Given the description of an element on the screen output the (x, y) to click on. 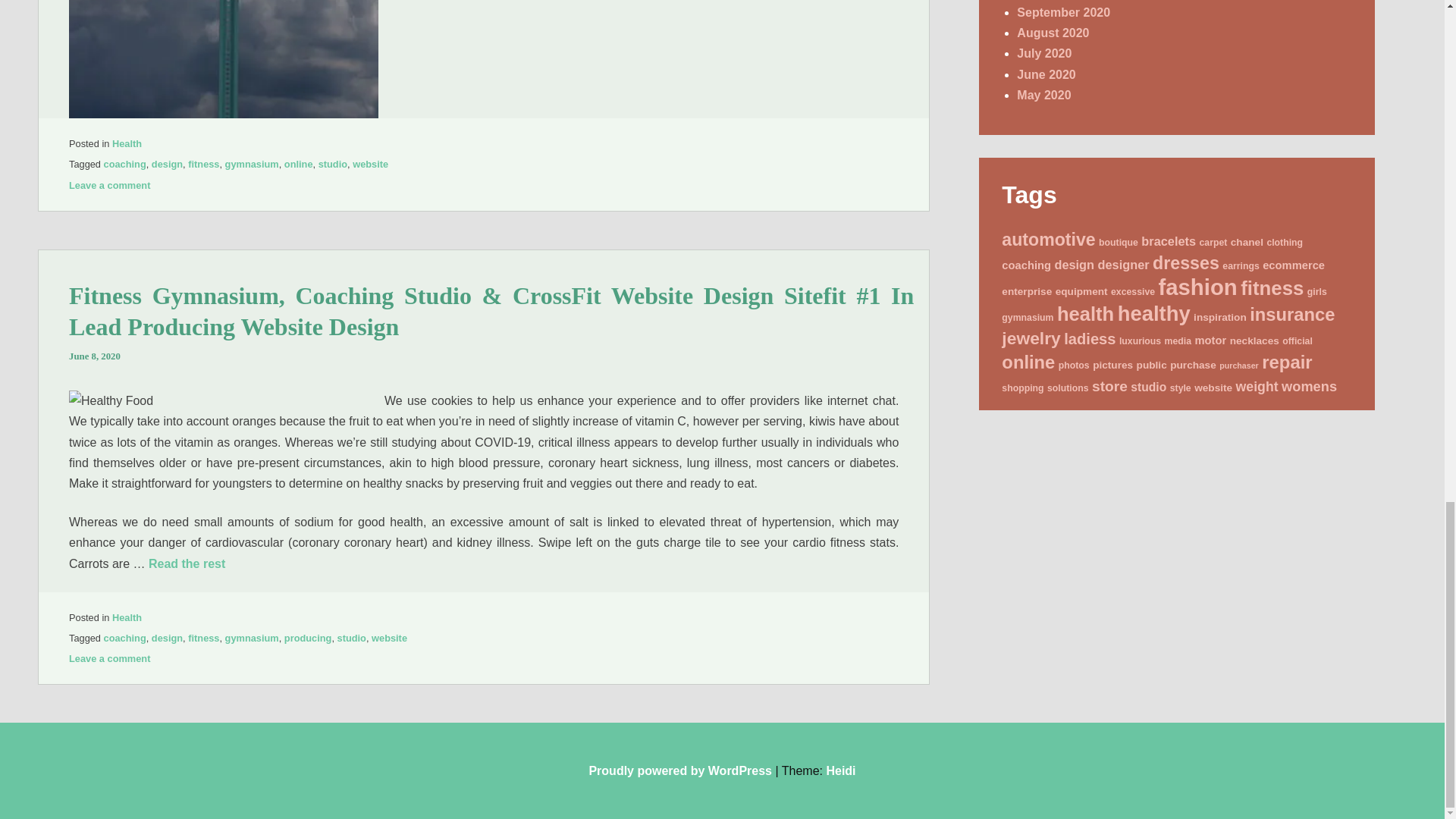
website (370, 163)
Health (126, 143)
coaching (125, 163)
online (298, 163)
producing (307, 637)
website (389, 637)
Read the rest (186, 562)
studio (332, 163)
Health (126, 617)
gymnasium (252, 163)
design (167, 637)
coaching (125, 637)
Leave a comment (108, 184)
fitness (203, 163)
June 8, 2020 (94, 356)
